Given the description of an element on the screen output the (x, y) to click on. 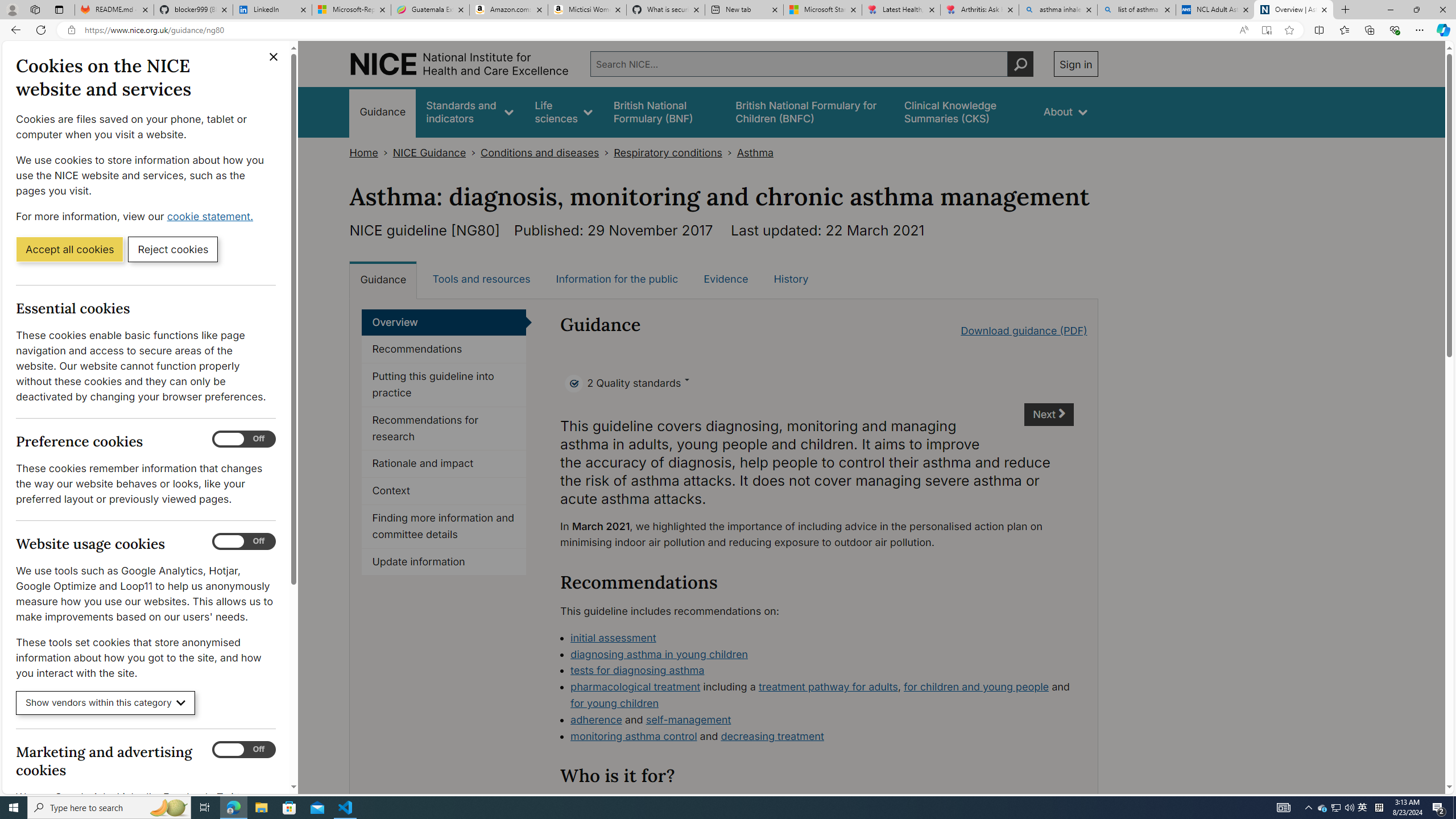
asthma inhaler - Search (1057, 9)
adherence (595, 719)
Overview (444, 321)
Putting this guideline into practice (444, 385)
Conditions and diseases> (547, 152)
Conditions and diseases (539, 152)
